Given the description of an element on the screen output the (x, y) to click on. 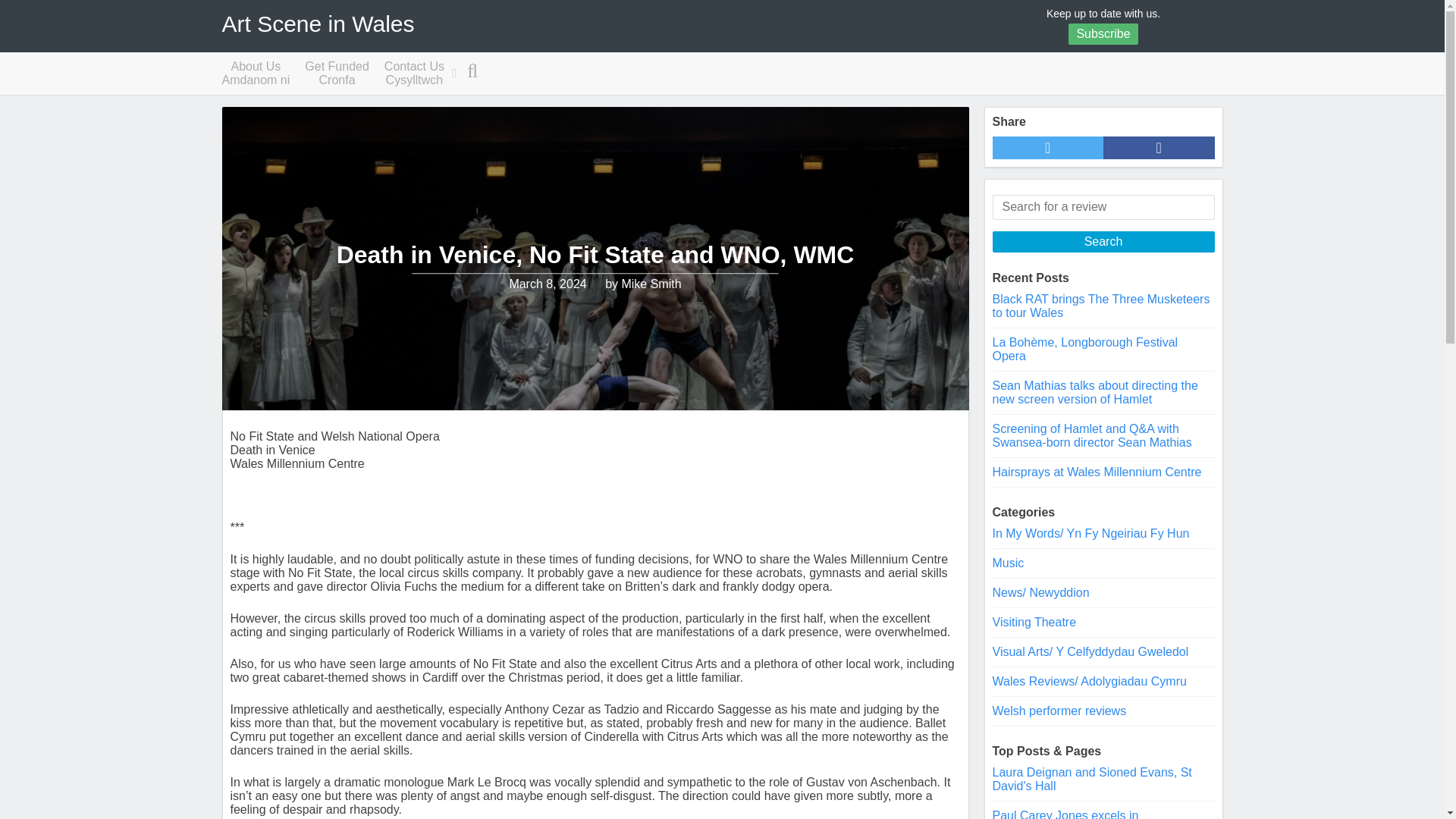
Black RAT brings The Three Musketeers to tour Wales (1100, 305)
Paul Carey Jones excels in Longborough's Walkure (337, 73)
Art Scene in Wales (1064, 814)
Welsh performer reviews (317, 23)
Music (414, 73)
Visiting Theatre (1058, 710)
Laura Deignan and Sioned Evans, St David's Hall (255, 73)
